Given the description of an element on the screen output the (x, y) to click on. 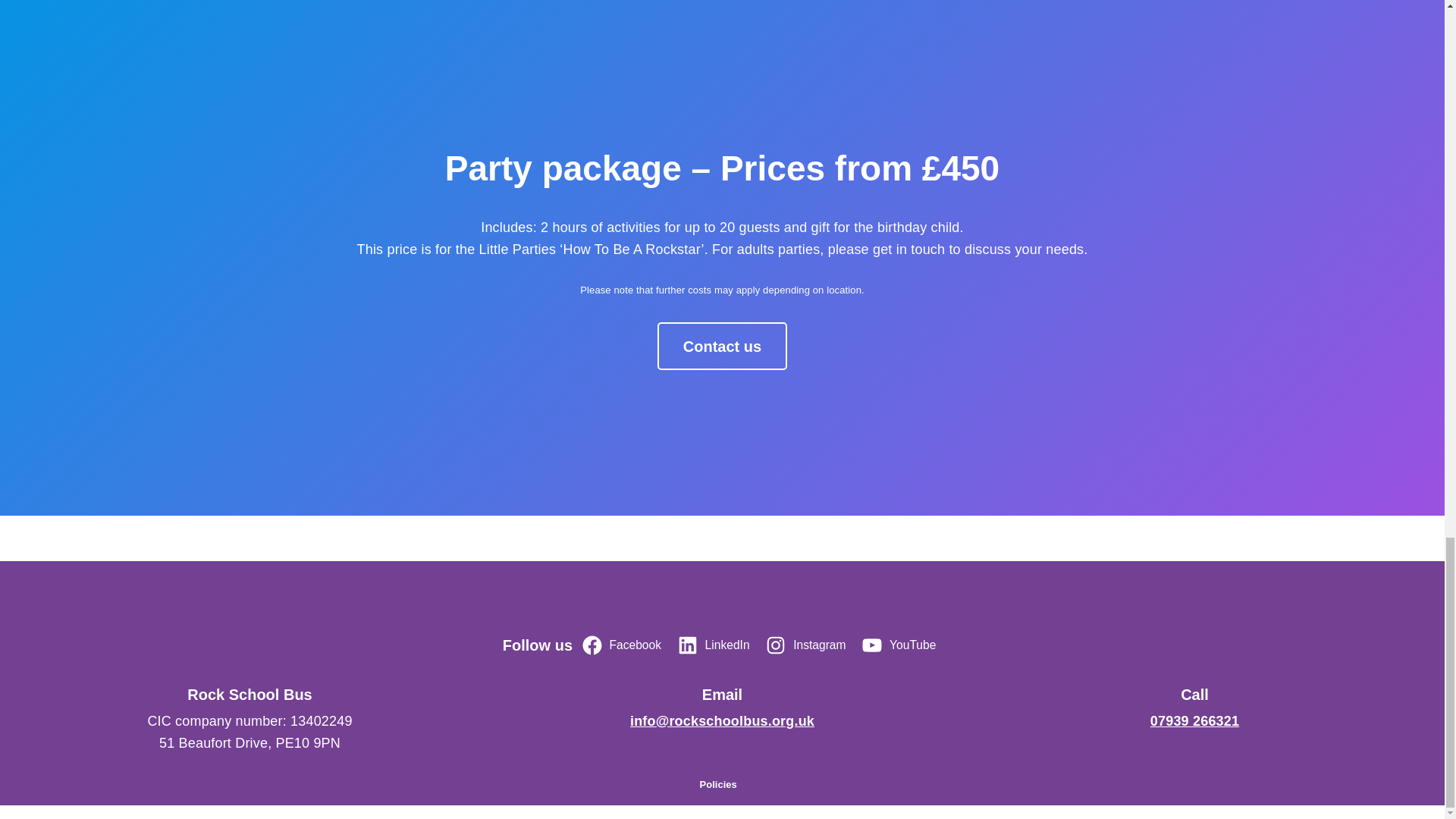
LinkedIn (716, 644)
07939 266321 (1194, 720)
Policies (718, 784)
Contact us (722, 346)
YouTube (901, 644)
Instagram (807, 644)
Facebook (623, 644)
